Given the description of an element on the screen output the (x, y) to click on. 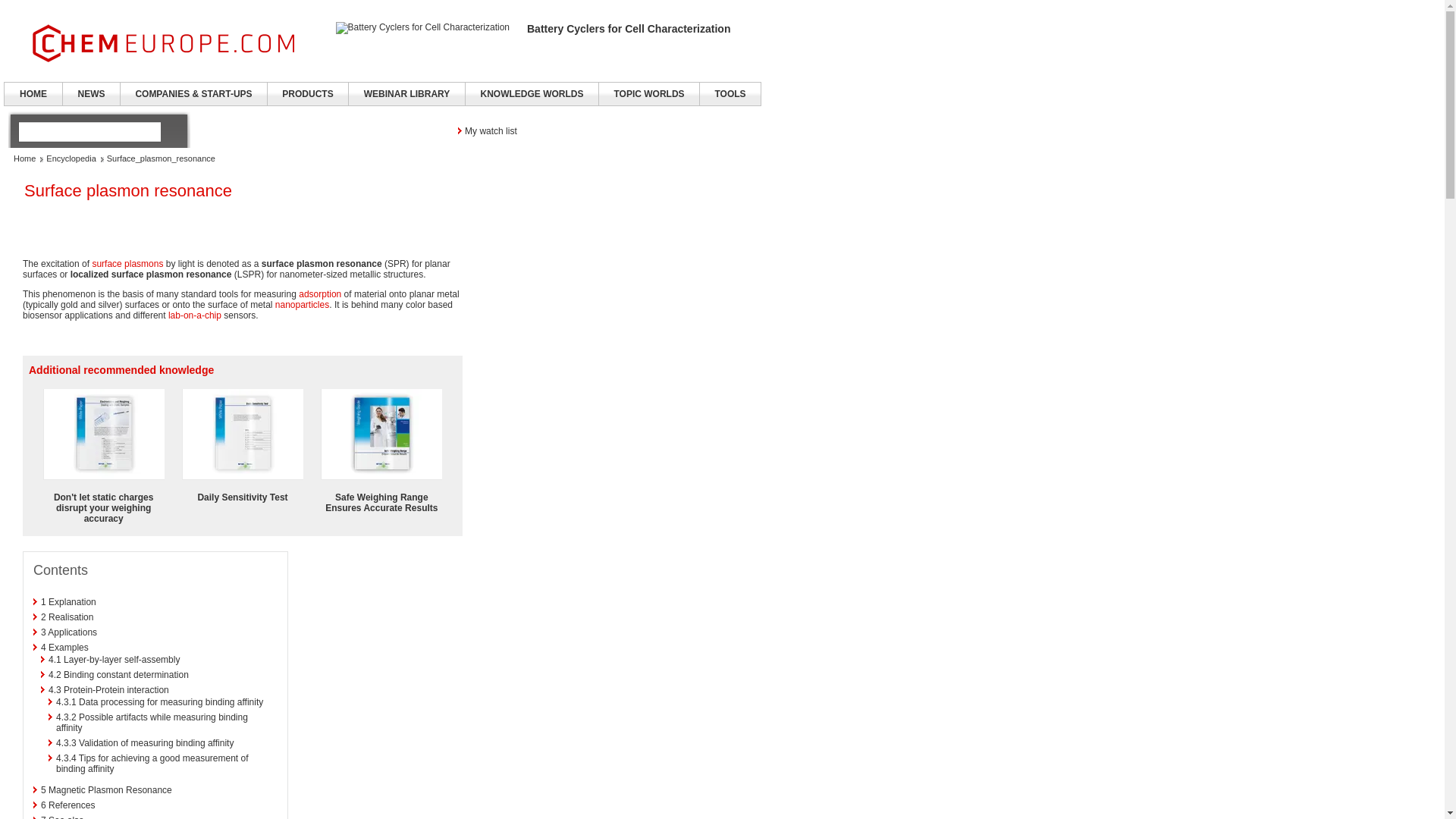
Adsorption (319, 294)
4.3.1 Data processing for measuring binding affinity (159, 701)
Daily Sensitivity Test (242, 497)
Login   (673, 131)
go (171, 131)
lab-on-a-chip (194, 315)
4.1 Layer-by-layer self-assembly (113, 659)
surface plasmons (127, 263)
search (88, 131)
